Given the description of an element on the screen output the (x, y) to click on. 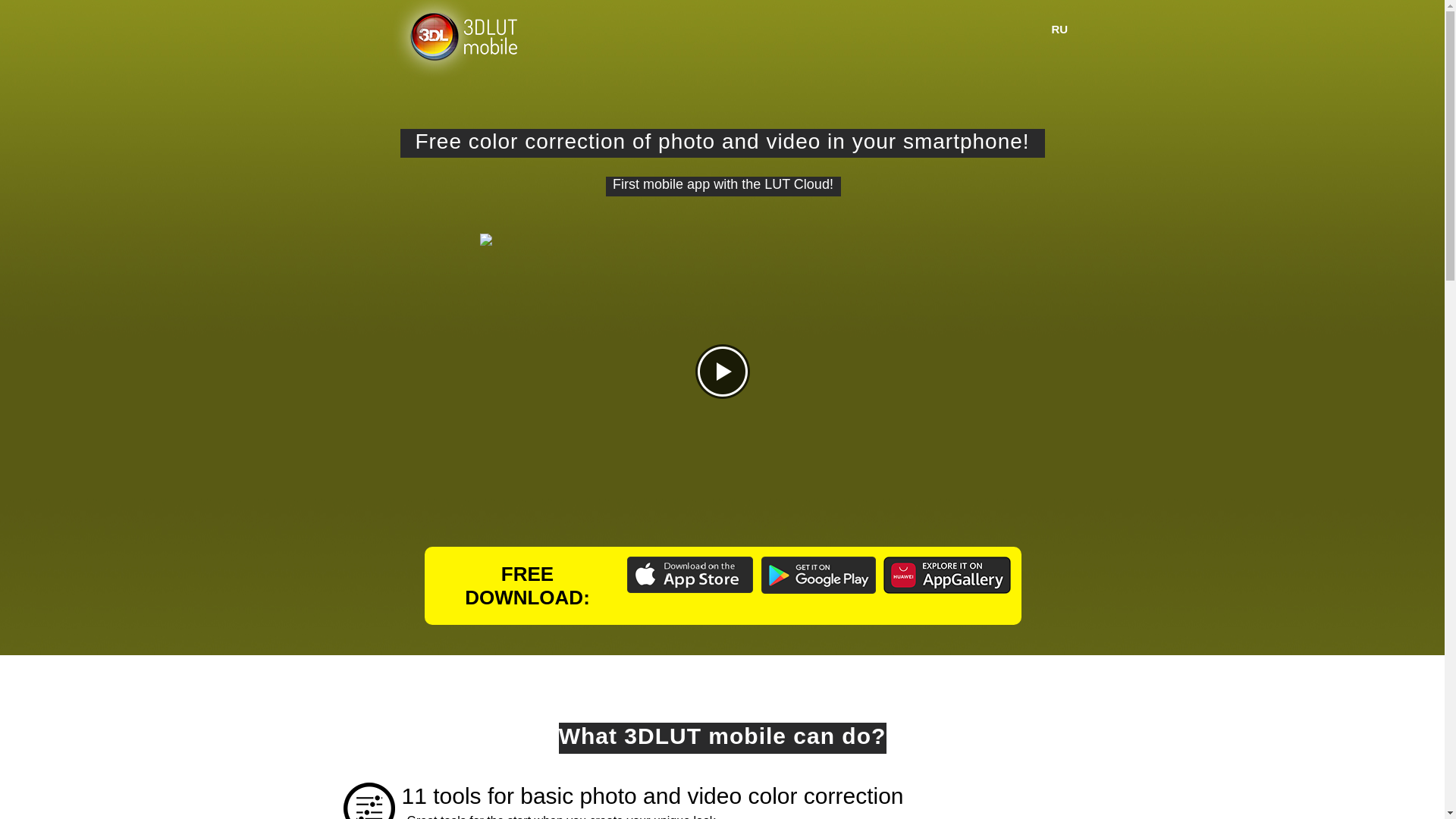
RU Element type: text (1059, 29)
